Given the description of an element on the screen output the (x, y) to click on. 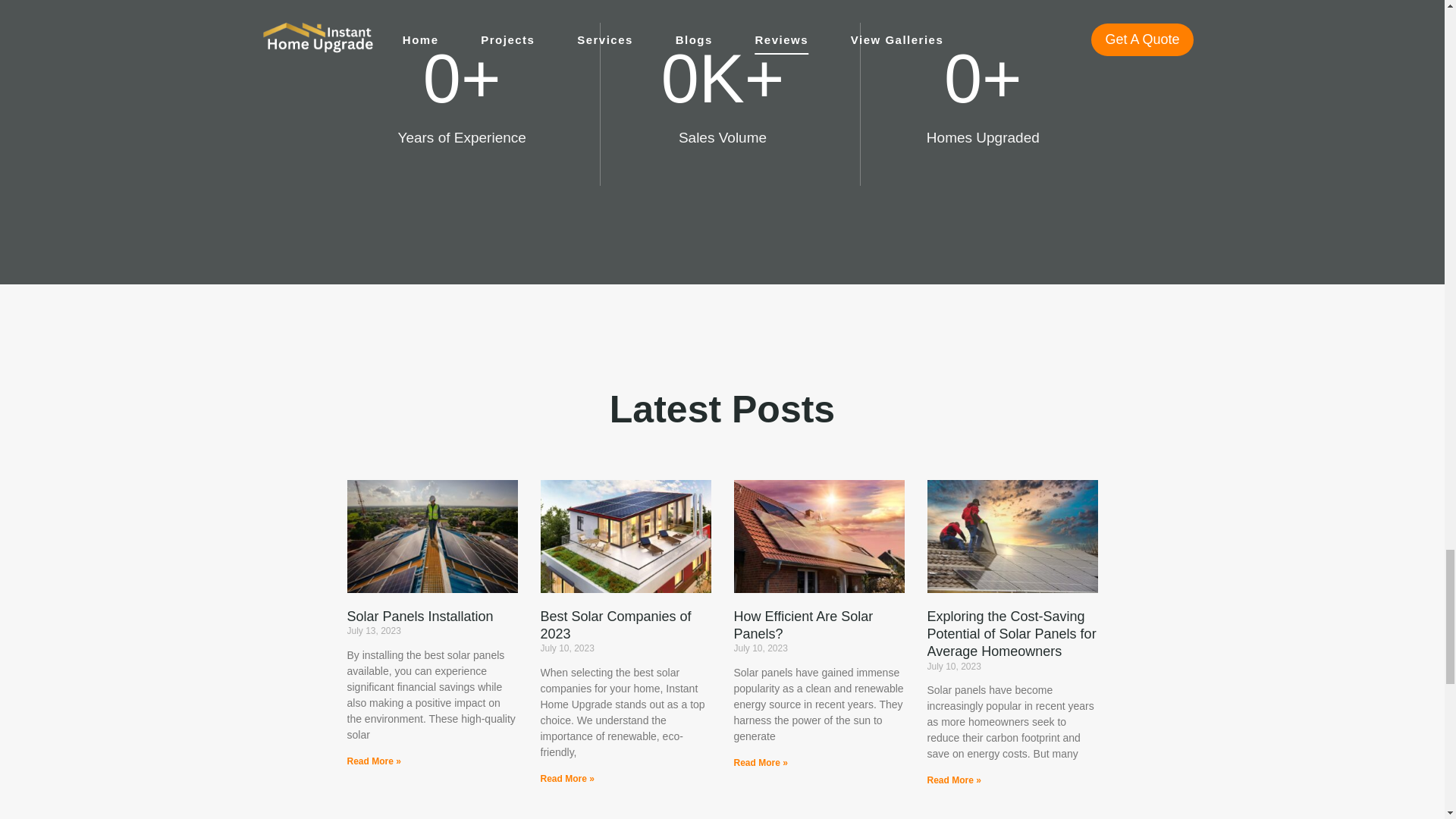
How Efficient Are Solar Panels? (803, 625)
Solar Panels Installation (420, 616)
Best Solar Companies of 2023 (615, 625)
